Given the description of an element on the screen output the (x, y) to click on. 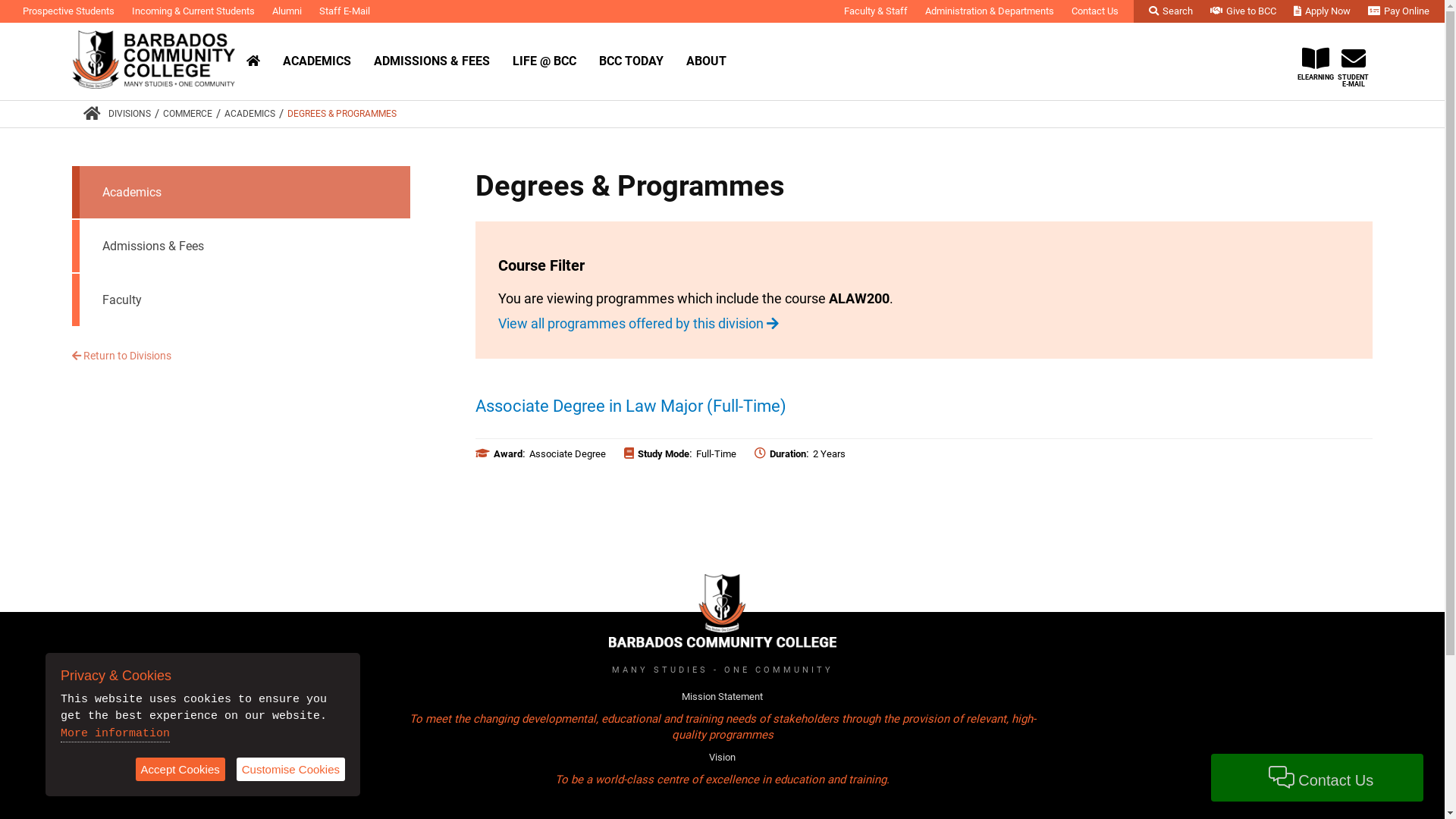
Give to BCC Element type: text (1243, 10)
ACADEMICS Element type: text (316, 61)
Accept Cookies Element type: text (180, 769)
Faculty Element type: text (244, 299)
DEGREES & PROGRAMMES Element type: text (341, 113)
Faculty & Staff Element type: text (875, 10)
Prospective Students Element type: text (68, 10)
View all programmes offered by this division Element type: text (638, 323)
ADMISSIONS & FEES Element type: text (431, 61)
Contact Us Element type: text (1094, 10)
COMMERCE Element type: text (187, 113)
Academics Element type: text (244, 192)
ELEARNING Element type: text (1315, 55)
ACADEMICS Element type: text (249, 113)
STUDENT E-MAIL Element type: text (1353, 58)
Search Element type: text (1170, 10)
BCC TODAY Element type: text (630, 61)
Incoming & Current Students Element type: text (192, 10)
Admissions & Fees Element type: text (244, 245)
LIFE @ BCC Element type: text (544, 61)
Administration & Departments Element type: text (989, 10)
Apply Now Element type: text (1321, 10)
Customise Cookies Element type: text (290, 769)
Return to Divisions Element type: text (121, 355)
Alumni Element type: text (286, 10)
More information Element type: text (114, 733)
DIVISIONS Element type: text (129, 113)
Associate Degree in Law Major (Full-Time) Element type: text (630, 405)
Pay Online Element type: text (1398, 10)
Contact Us Element type: text (1317, 777)
ABOUT Element type: text (705, 61)
Staff E-Mail Element type: text (344, 10)
